Given the description of an element on the screen output the (x, y) to click on. 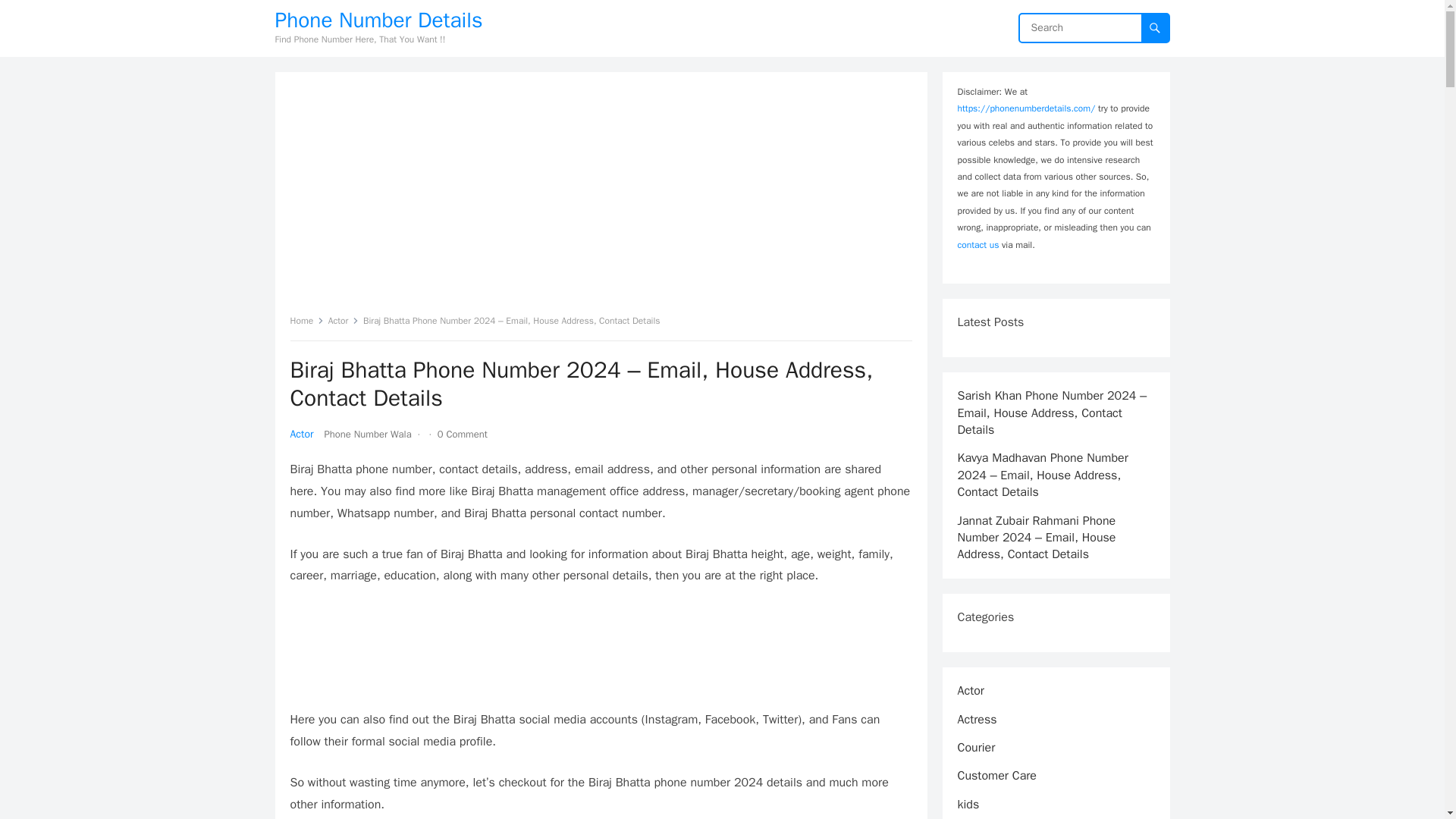
Phone Number Wala (366, 433)
Actor (344, 320)
Phone Number Details (378, 20)
Home (306, 320)
Actor (301, 433)
Advertisement (600, 654)
Advertisement (600, 199)
0 Comment (462, 433)
Posts by Phone Number Wala (366, 433)
